Given the description of an element on the screen output the (x, y) to click on. 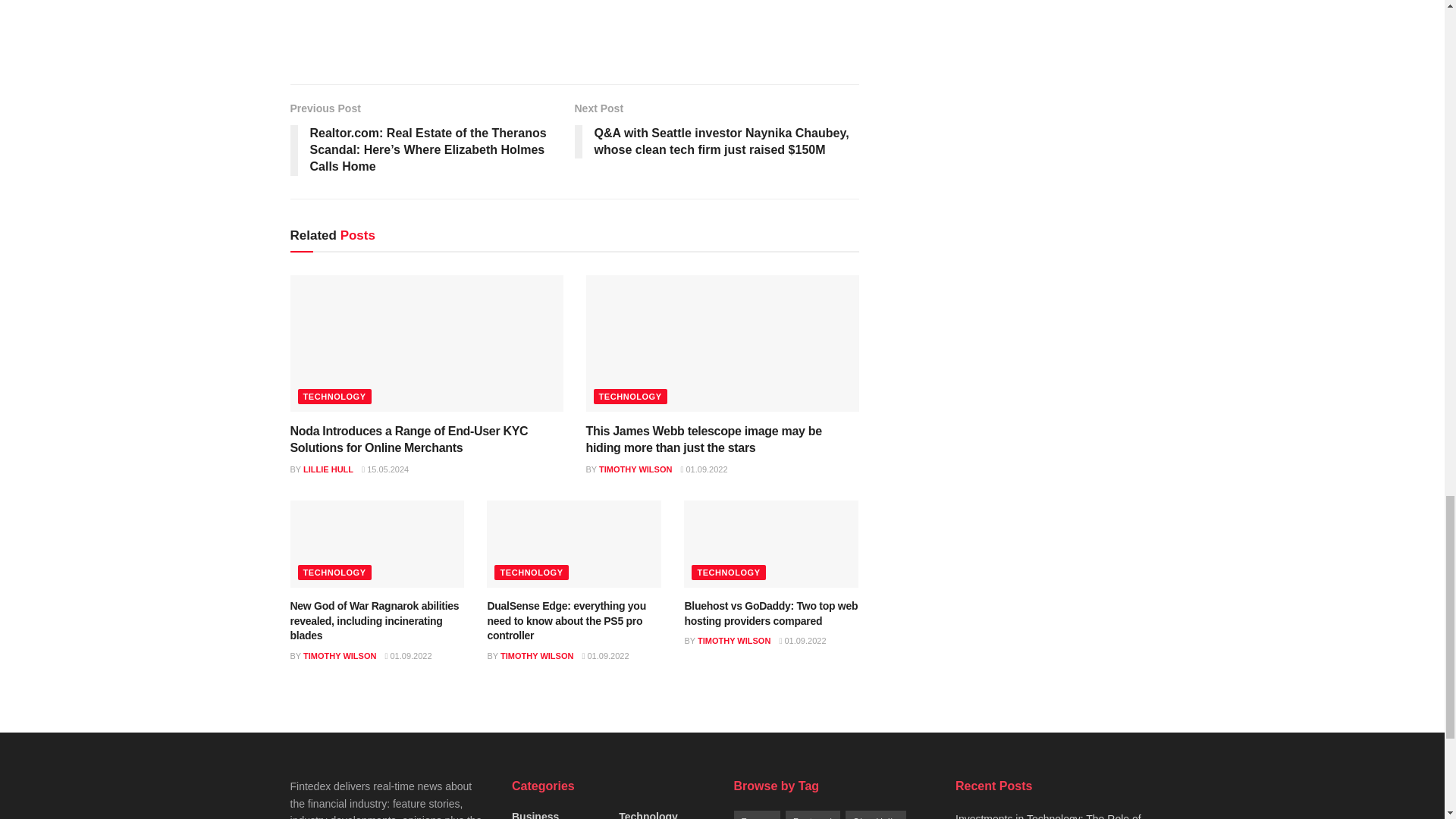
TIMOTHY WILSON (634, 469)
TECHNOLOGY (334, 572)
TECHNOLOGY (629, 396)
01.09.2022 (702, 469)
15.05.2024 (385, 469)
TECHNOLOGY (334, 396)
LILLIE HULL (327, 469)
